Given the description of an element on the screen output the (x, y) to click on. 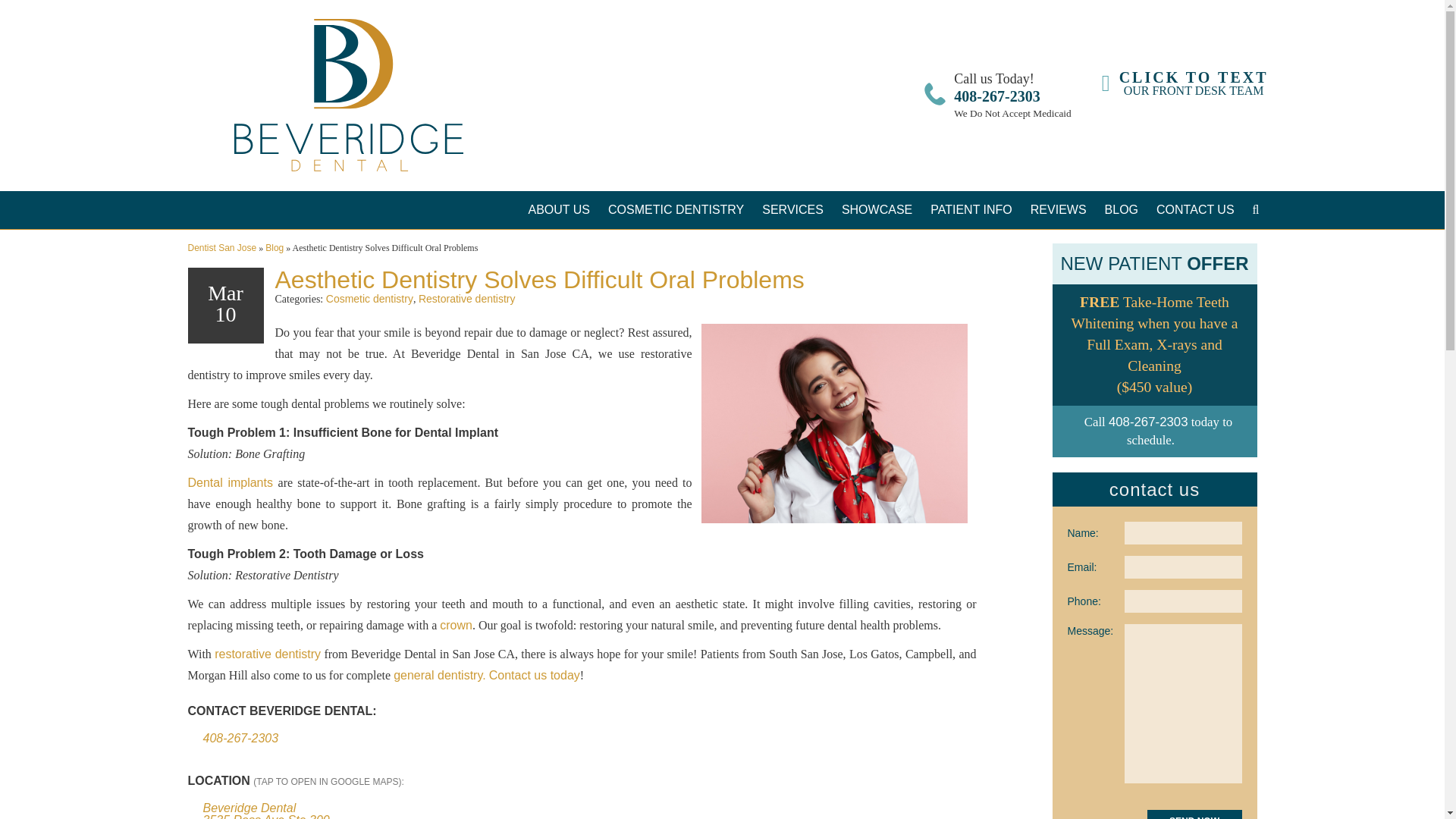
SERVICES (792, 209)
Send Now (1194, 814)
ABOUT US (558, 209)
408-267-2303 (1185, 83)
COSMETIC DENTISTRY (996, 95)
